Given the description of an element on the screen output the (x, y) to click on. 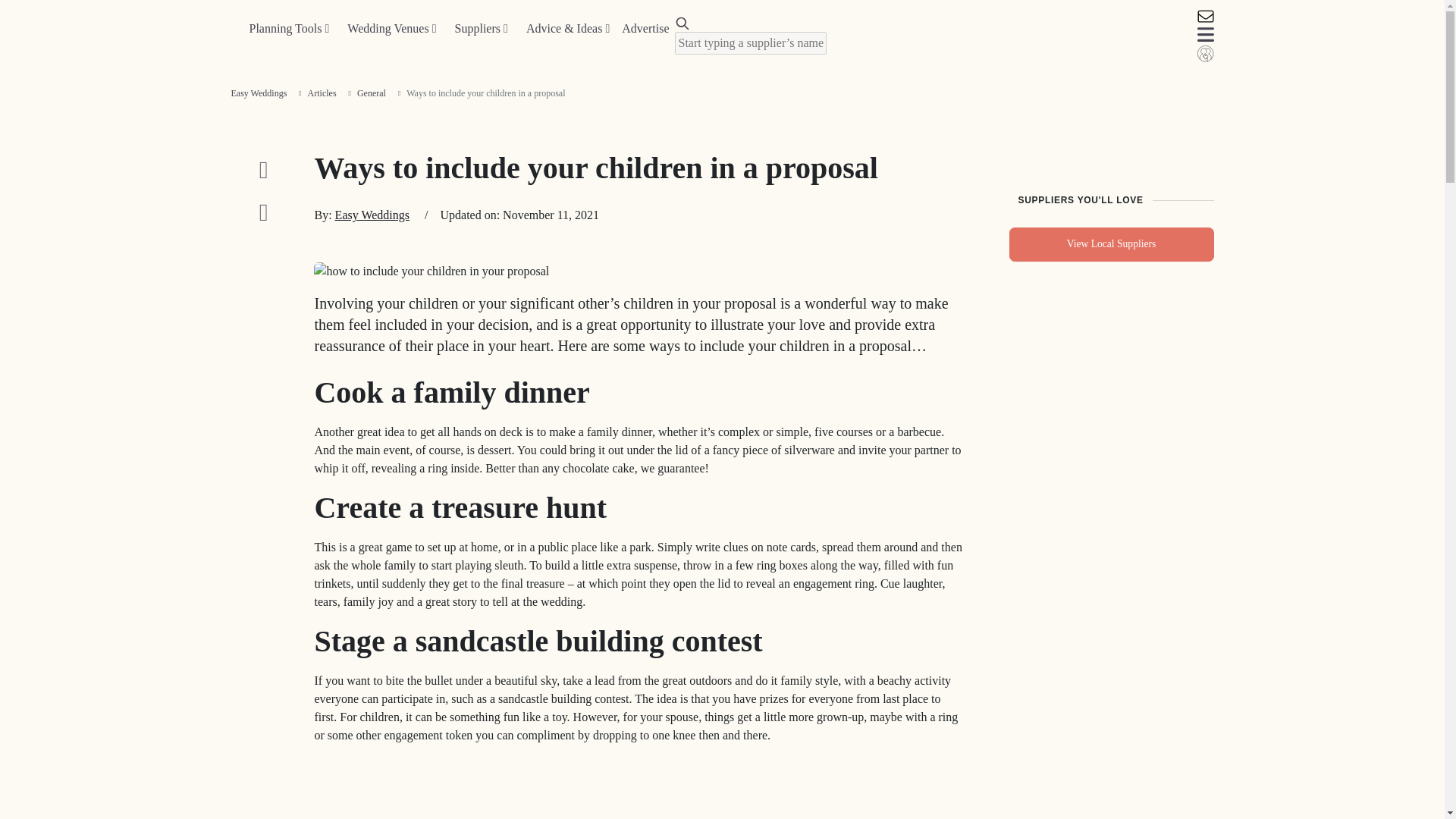
Easy Weddings (371, 214)
Share via Email (262, 212)
General (370, 92)
Articles (321, 92)
Ways to include your children in a proposal (431, 271)
Easy Weddings (258, 92)
Ways to include your children in a proposal (638, 787)
Advertise (645, 28)
Suppliers (480, 28)
Planning Tools (288, 28)
